Given the description of an element on the screen output the (x, y) to click on. 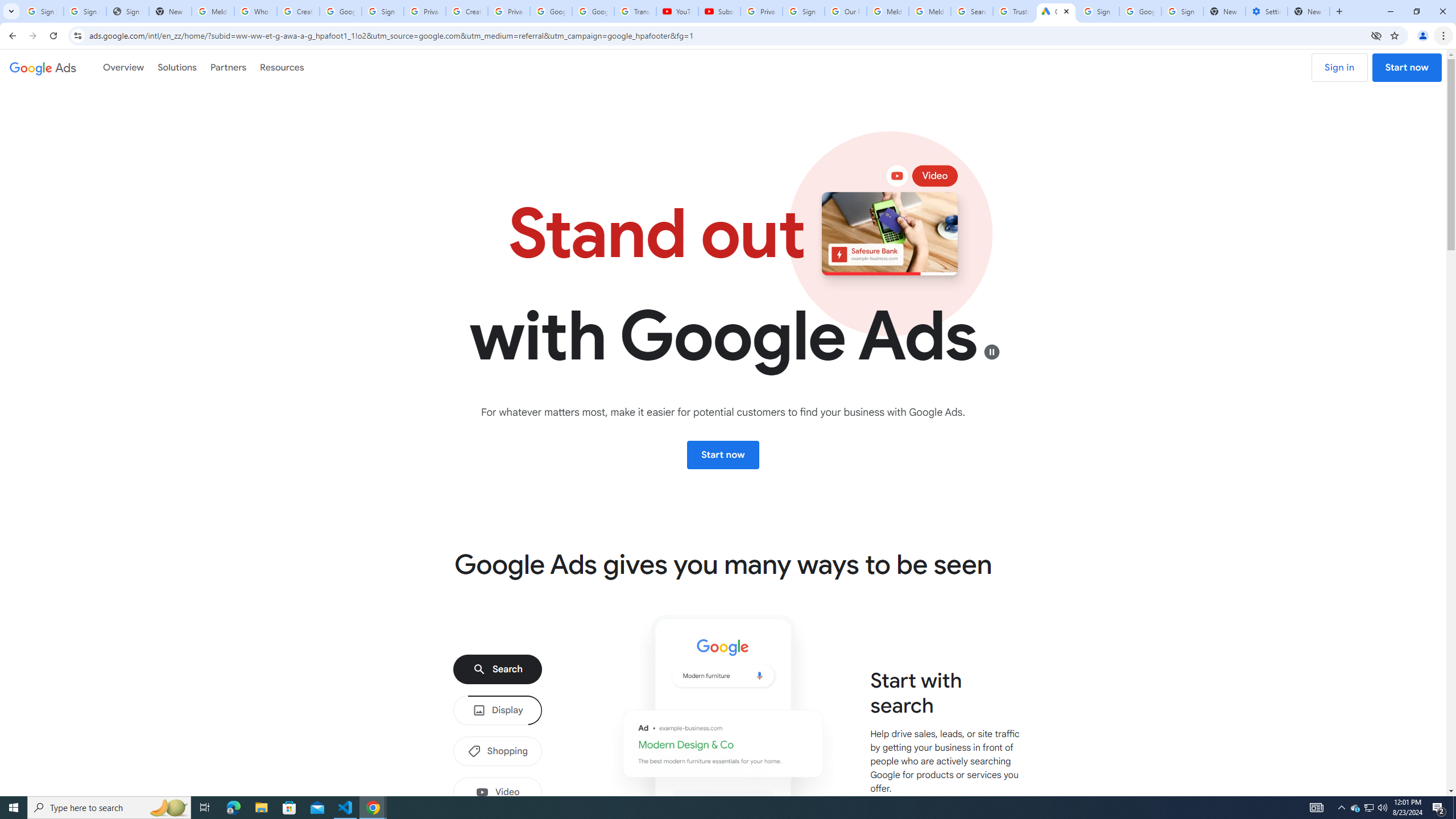
Create your Google Account (298, 11)
Trusted Information and Content - Google Safety Center (1013, 11)
Start now (722, 454)
Sign in - Google Accounts (1097, 11)
Google Cybersecurity Innovations - Google Safety Center (1139, 11)
